Given the description of an element on the screen output the (x, y) to click on. 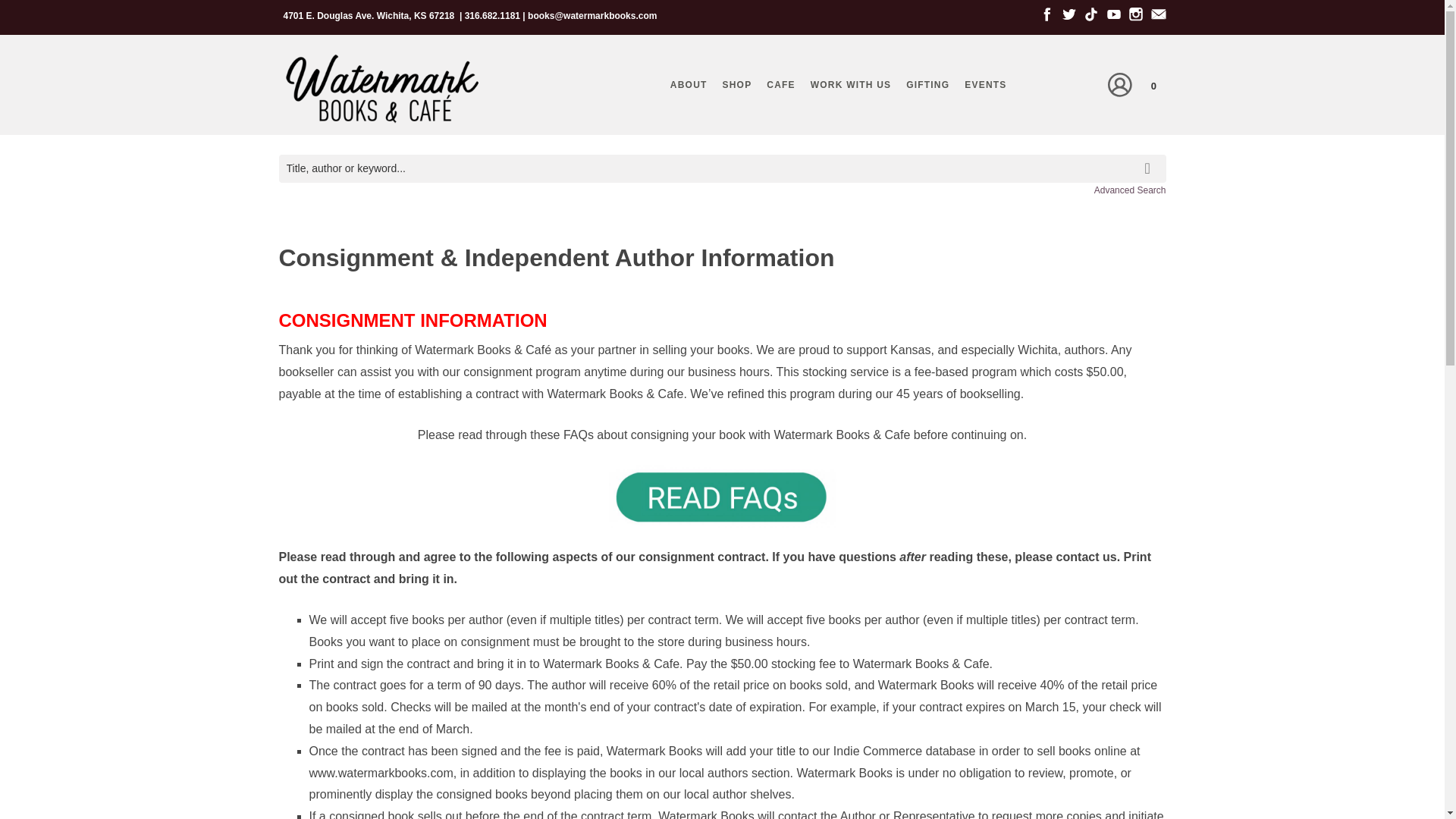
CAFE (780, 84)
ABOUT (688, 84)
SHOP (737, 84)
search (1150, 157)
Home (381, 89)
Title, author or keyword... (722, 168)
